Given the description of an element on the screen output the (x, y) to click on. 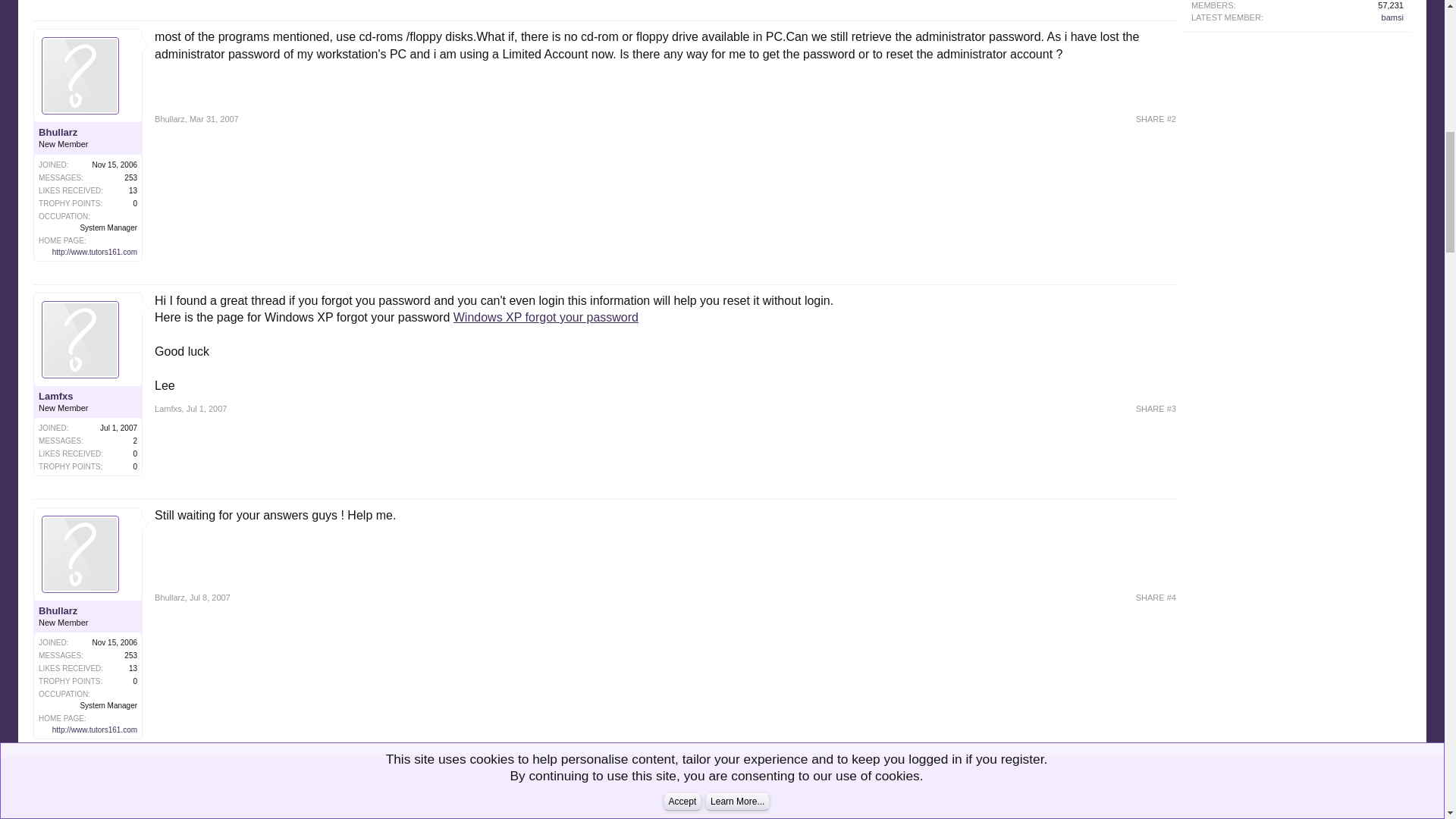
Permalink (206, 408)
Bhullarz (169, 118)
Mar 31, 2007 (213, 118)
253 (129, 177)
Permalink (1155, 408)
Permalink (213, 118)
Permalink (209, 596)
Permalink (1155, 118)
Bhullarz (87, 132)
Lamfxs (87, 396)
Permalink (1155, 597)
